Given the description of an element on the screen output the (x, y) to click on. 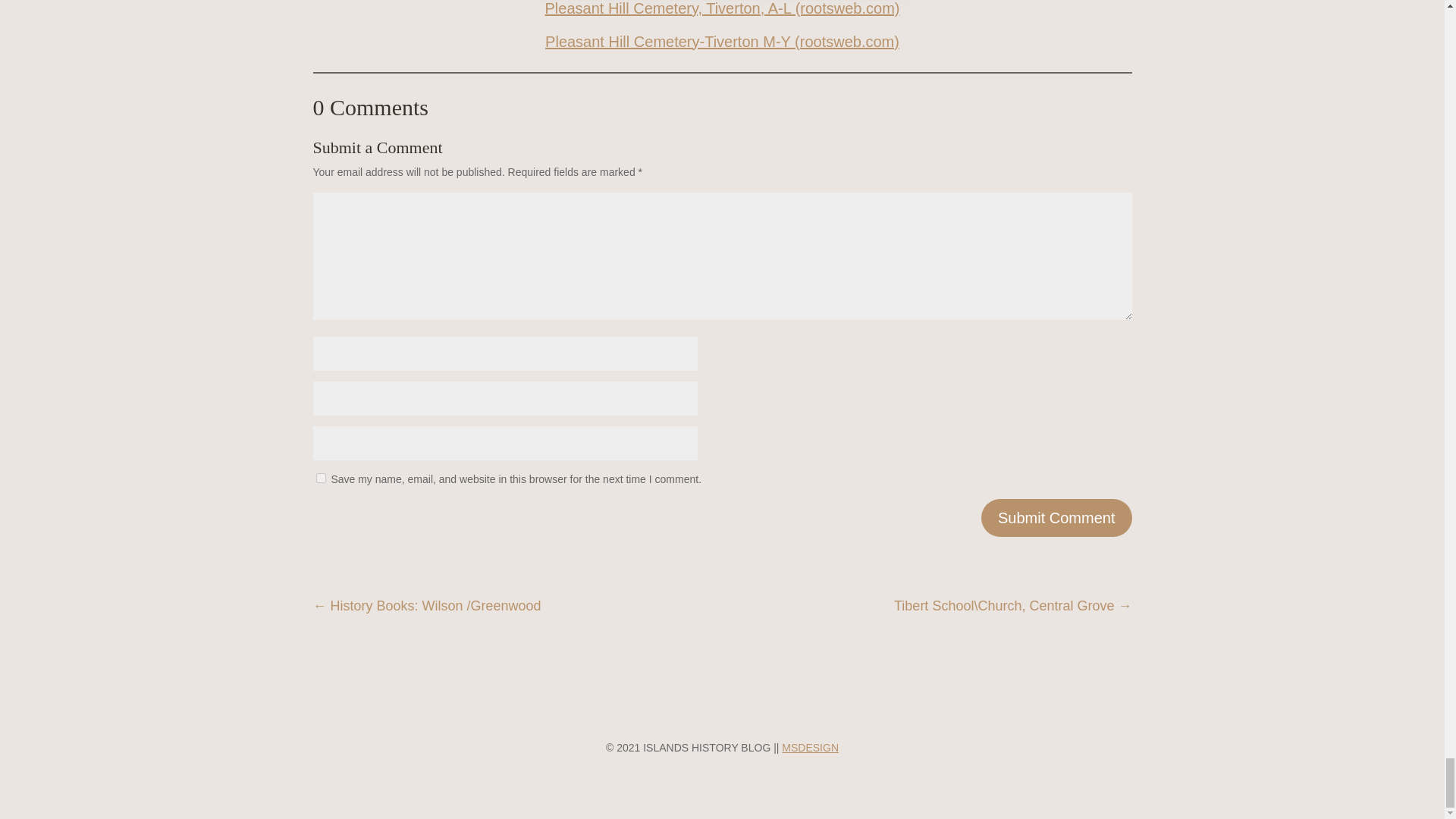
Submit Comment (1056, 517)
yes (319, 478)
